Given the description of an element on the screen output the (x, y) to click on. 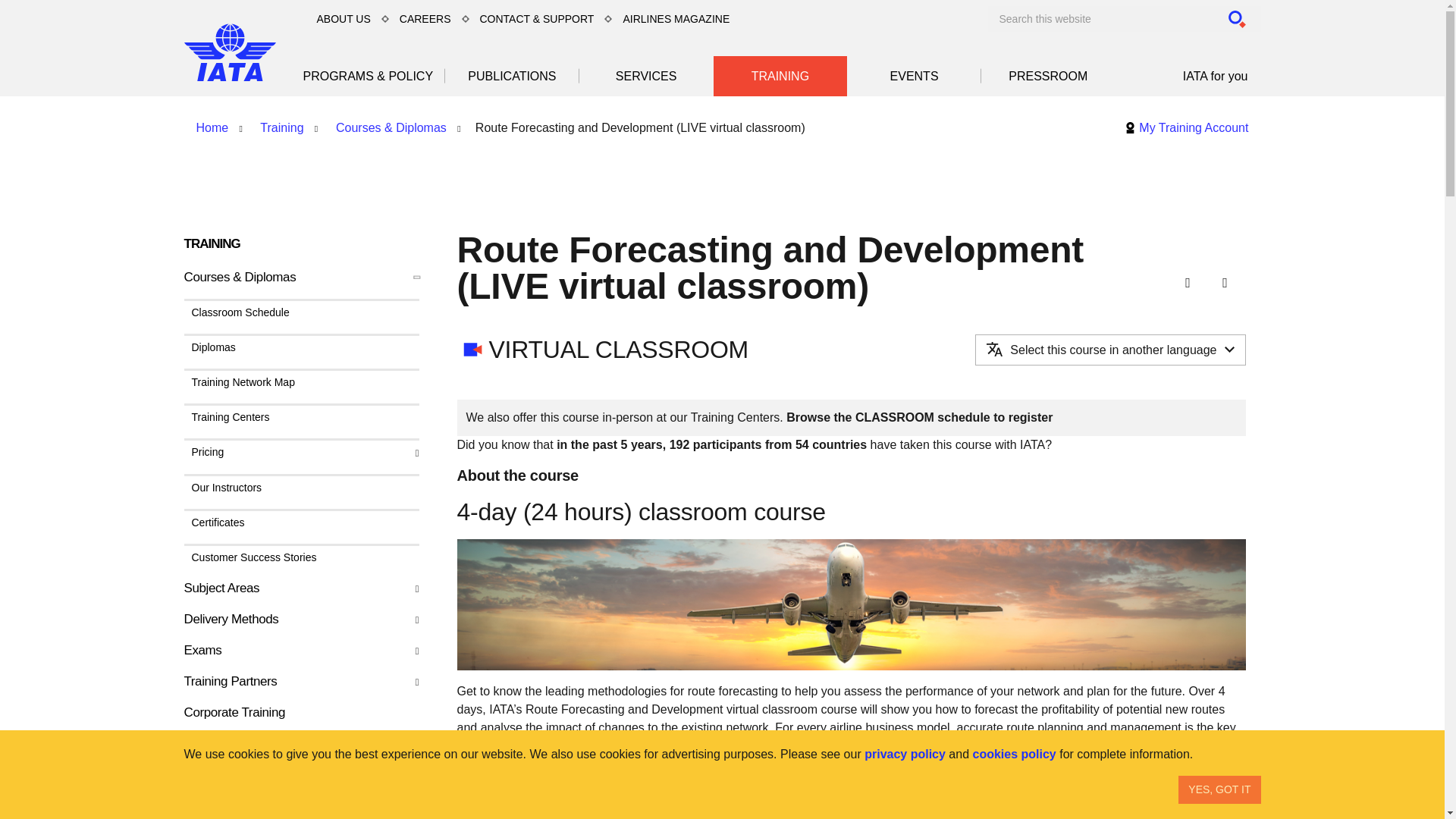
AIRLINES MAGAZINE (675, 18)
3rd party ad content (983, 179)
SERVICES (646, 76)
ABOUT US (343, 18)
PUBLICATIONS (512, 76)
CAREERS (424, 18)
